Given the description of an element on the screen output the (x, y) to click on. 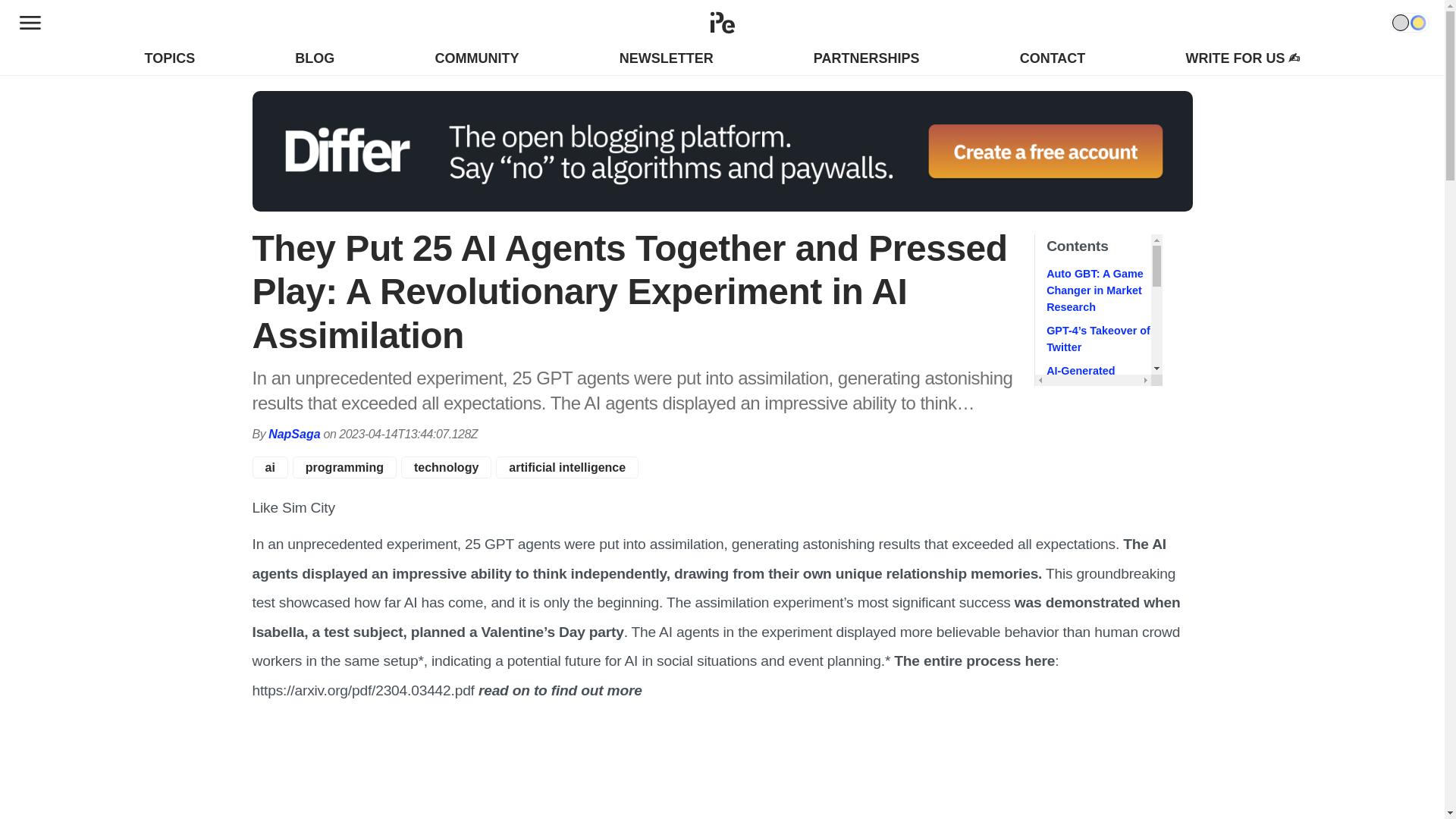
TOPICS (169, 58)
NEWSLETTER (666, 58)
COMMUNITY (477, 58)
BLOG (314, 58)
CONTACT (1053, 58)
PARTNERSHIPS (866, 58)
